Given the description of an element on the screen output the (x, y) to click on. 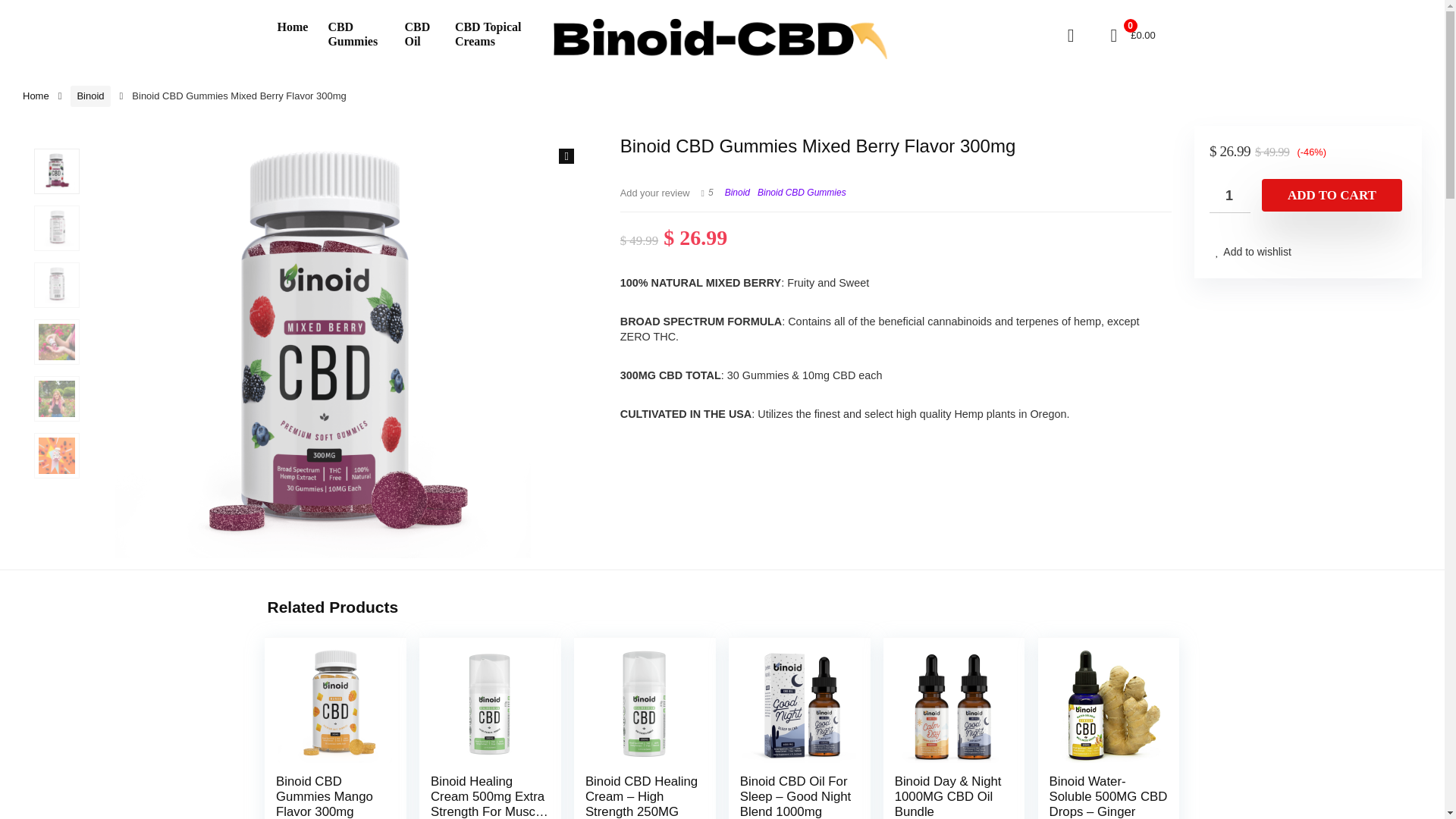
ADD TO CART (1332, 195)
View all posts in Binoid CBD Gummies (801, 192)
Home (36, 95)
Qty (1229, 195)
CBD Topical Creams (495, 34)
Add your review (655, 193)
1 (1229, 195)
CBD Gummies (355, 34)
CBD Oil (419, 34)
Home (291, 27)
View all posts in Binoid (737, 192)
Binoid (737, 192)
Binoid CBD Gummies Mango Flavor 300mg (324, 796)
Binoid (89, 96)
